Given the description of an element on the screen output the (x, y) to click on. 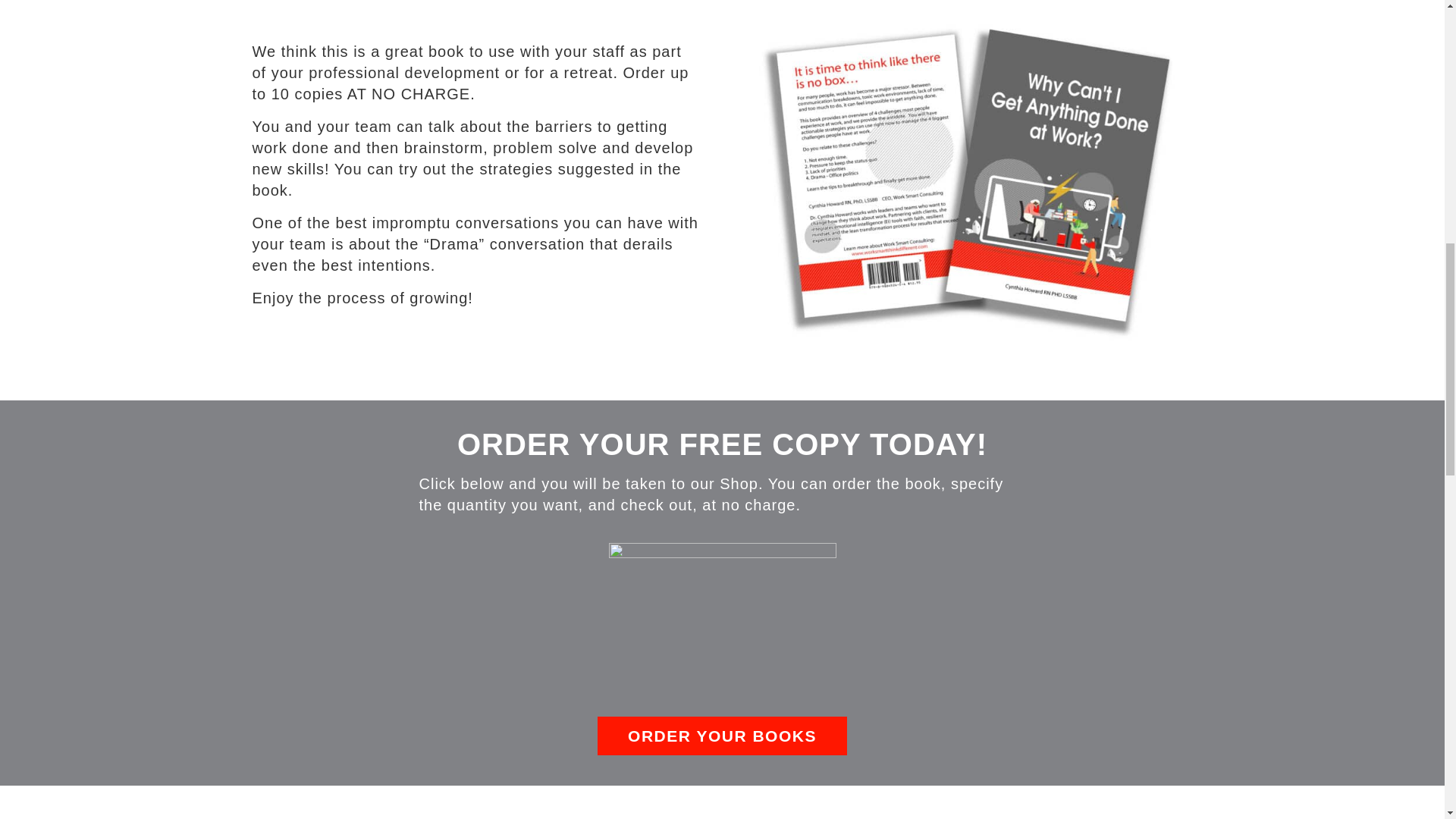
ORDER YOUR BOOKS (721, 735)
